Given the description of an element on the screen output the (x, y) to click on. 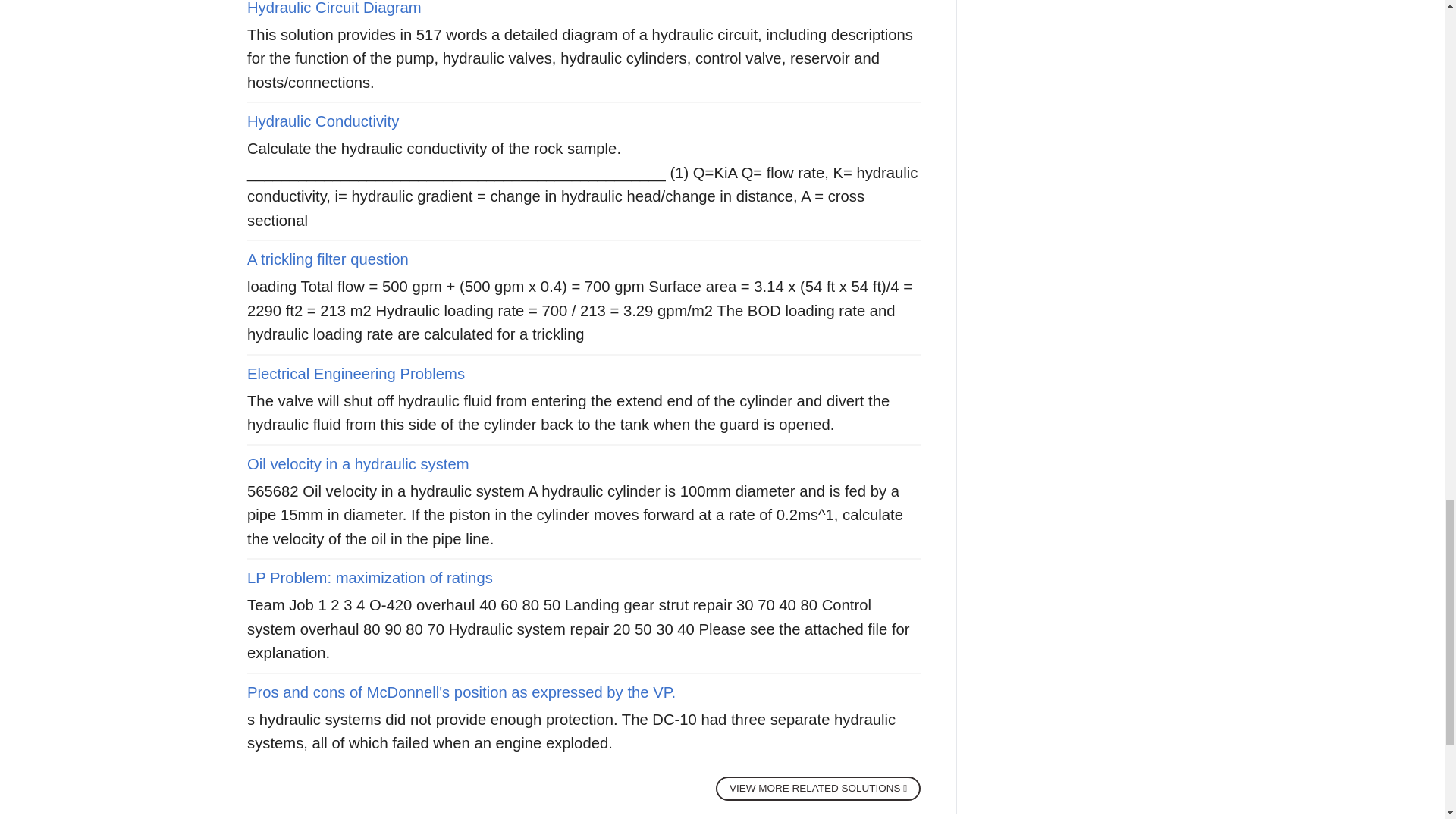
Hydraulic Conductivity (322, 121)
A trickling filter question (328, 258)
Hydraulic Circuit Diagram (334, 7)
